Given the description of an element on the screen output the (x, y) to click on. 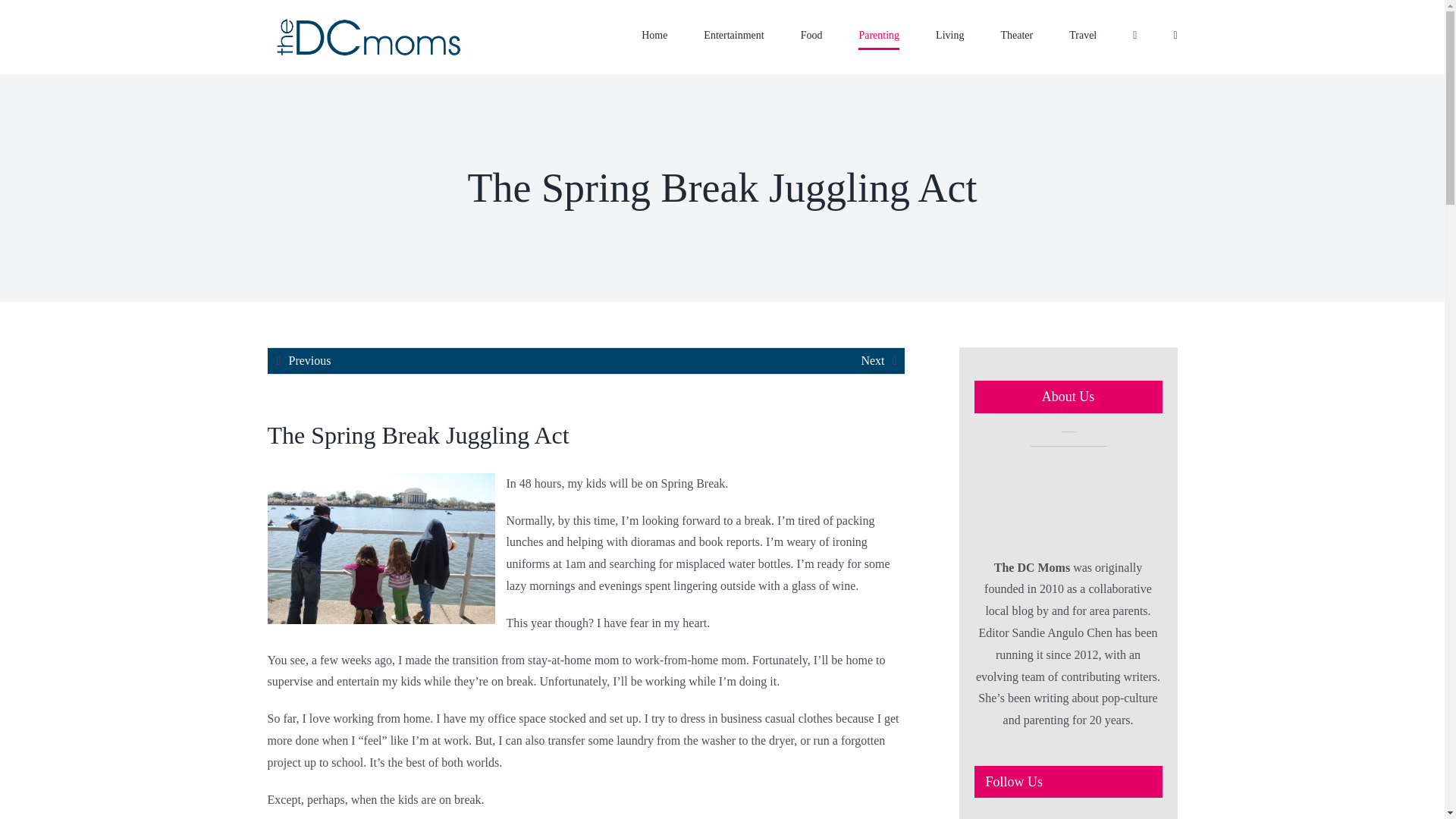
Next (871, 360)
Previous (309, 360)
cherryblossoms2 (380, 548)
